Given the description of an element on the screen output the (x, y) to click on. 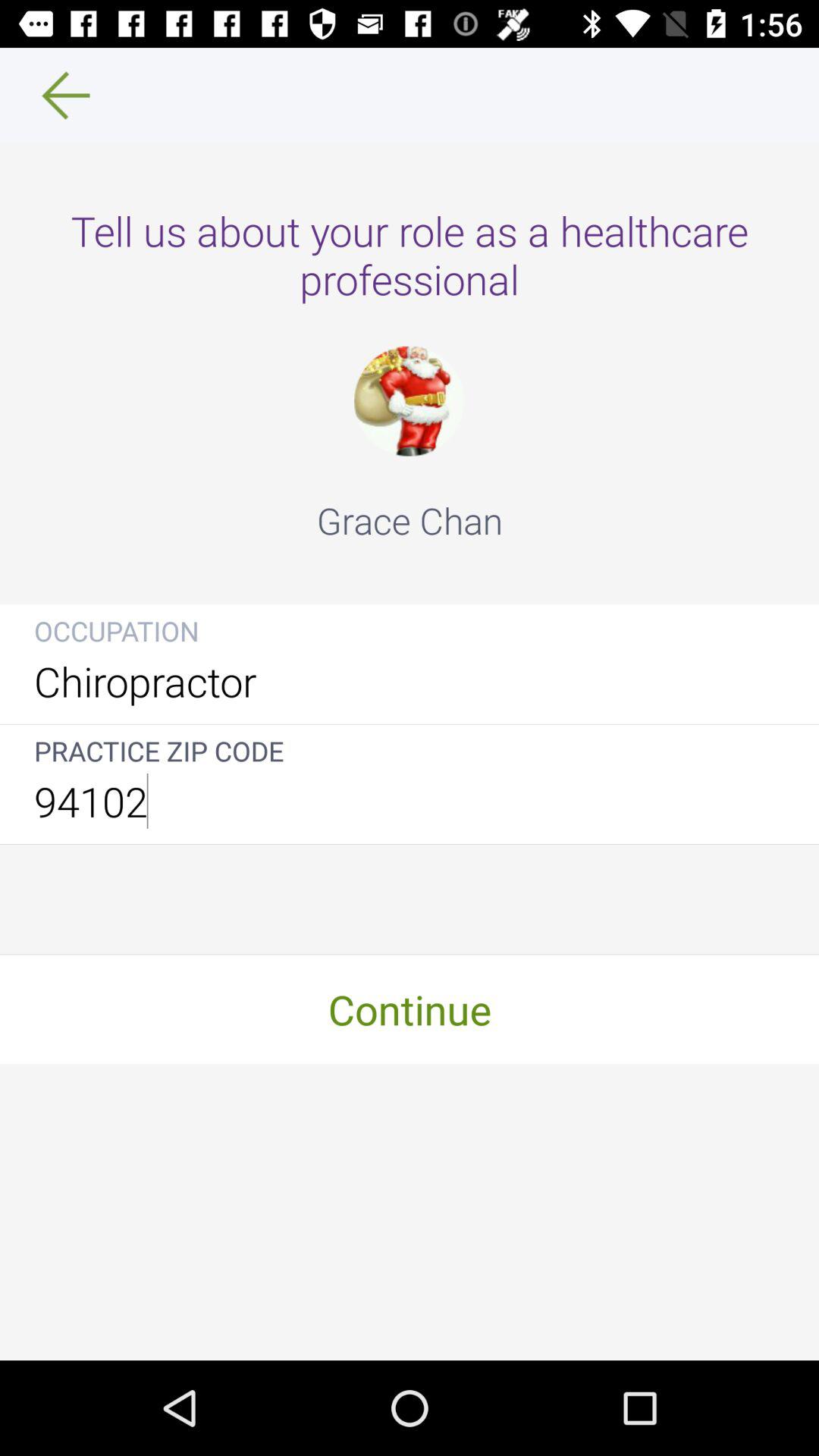
press item above tell us about (55, 95)
